Given the description of an element on the screen output the (x, y) to click on. 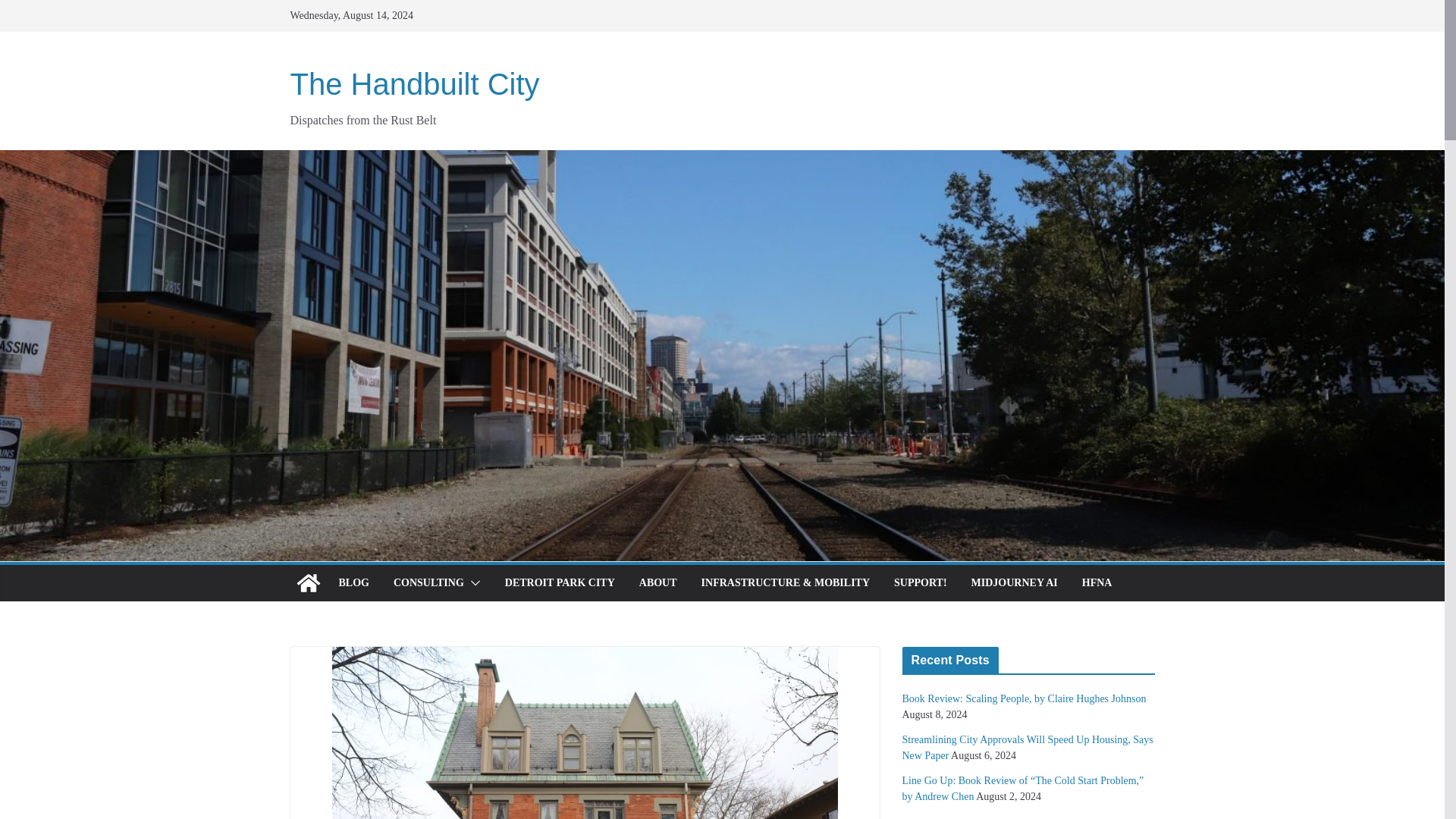
The Handbuilt City (307, 583)
HFNA (1096, 582)
BLOG (352, 582)
MIDJOURNEY AI (1014, 582)
The Handbuilt City (413, 83)
CONSULTING (428, 582)
The Handbuilt City (413, 83)
ABOUT (658, 582)
SUPPORT! (920, 582)
DETROIT PARK CITY (559, 582)
